Given the description of an element on the screen output the (x, y) to click on. 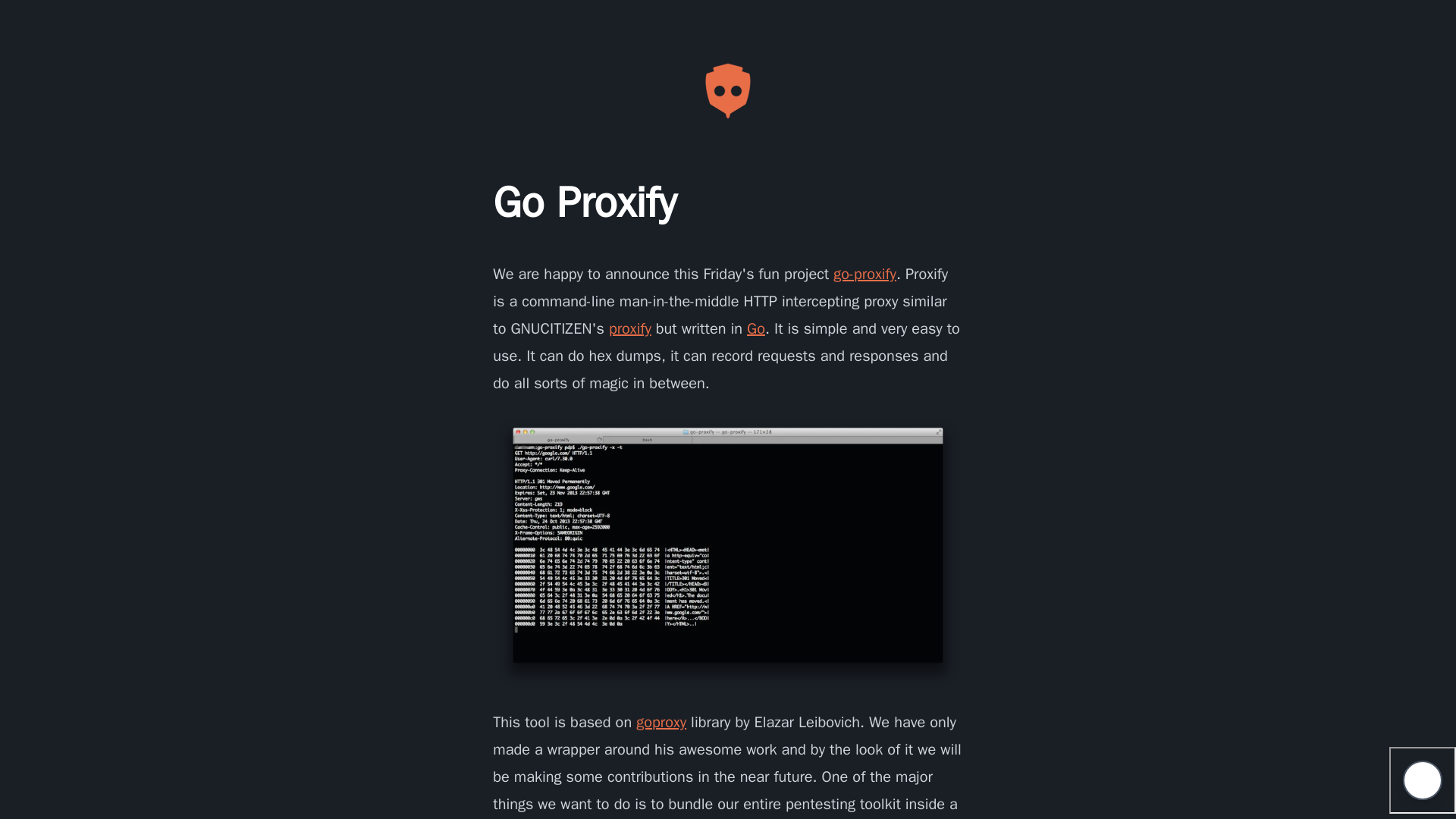
go-proxify (864, 273)
proxify (629, 328)
goproxy (660, 722)
Go (755, 328)
